Given the description of an element on the screen output the (x, y) to click on. 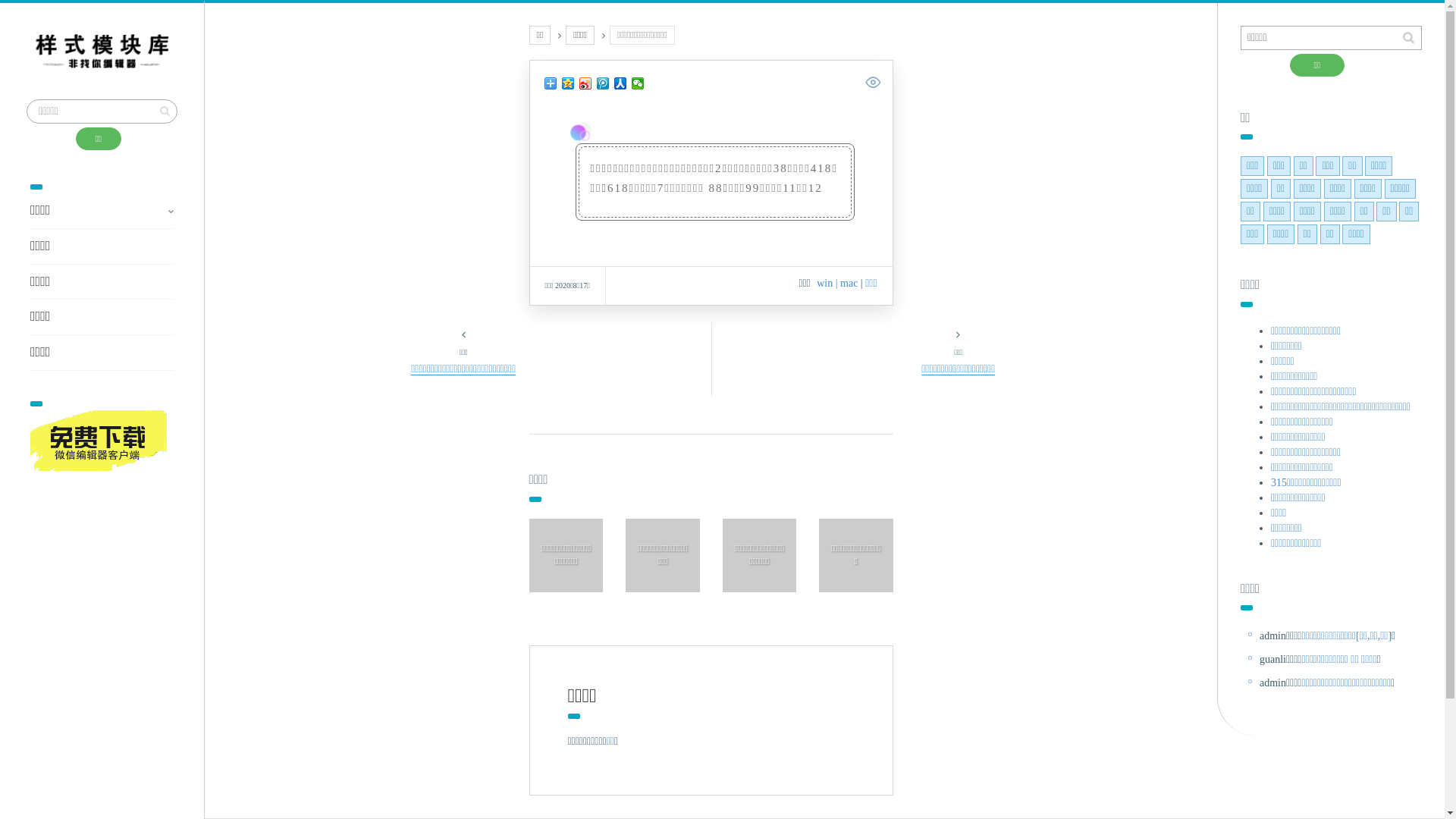
win Element type: text (824, 282)
| mac Element type: text (846, 282)
